Given the description of an element on the screen output the (x, y) to click on. 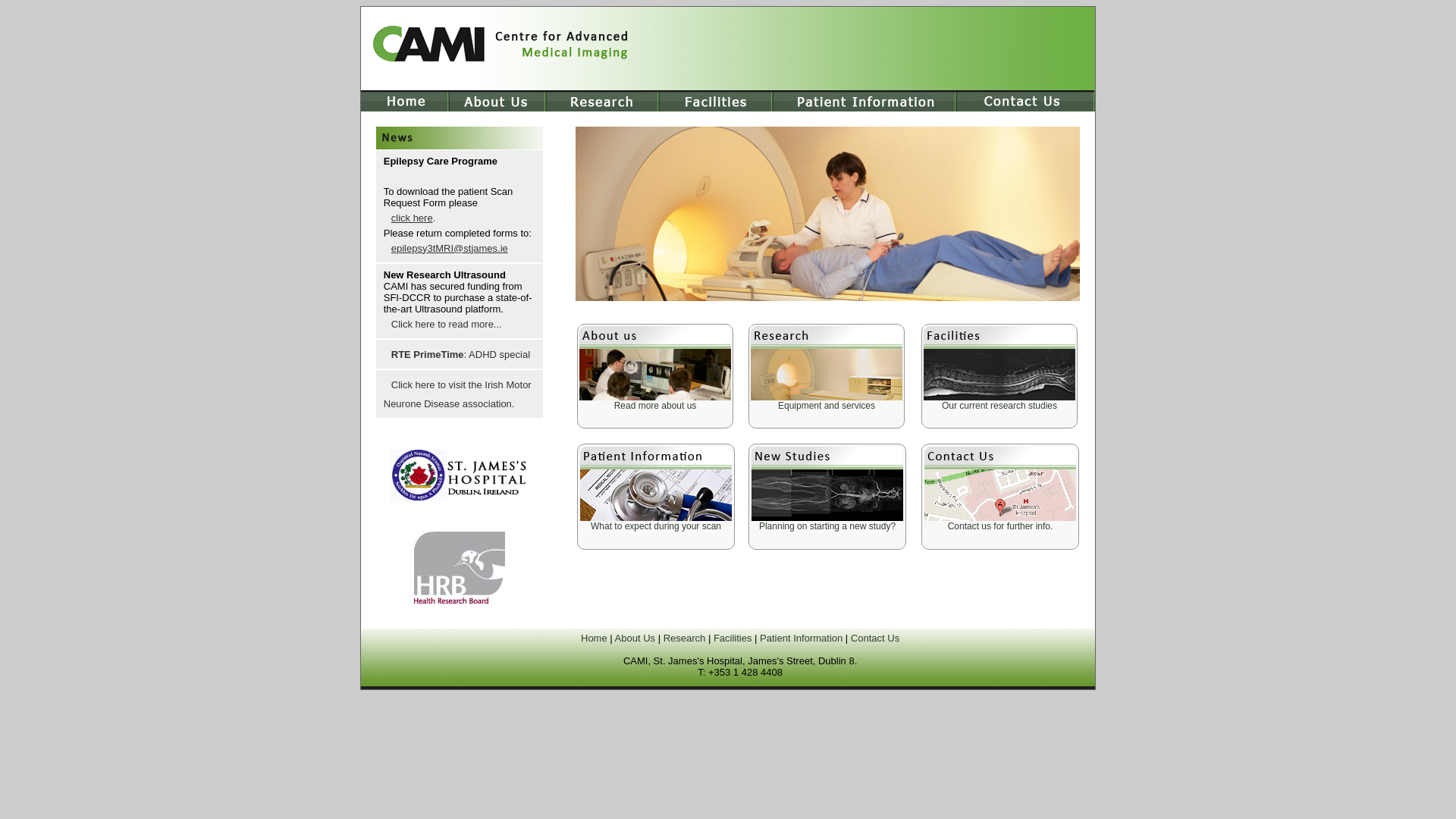
click here. Element type: text (459, 216)
Equipment and services Element type: text (826, 405)
RTE PrimeTime: ADHD special Element type: text (459, 353)
epilepsy3tMRI@stjames.ie Element type: text (459, 247)
Planning on starting a new study? Element type: text (827, 525)
Patient Information Element type: text (800, 637)
About Us Element type: text (635, 637)
Research Element type: text (684, 637)
Our current research studies Element type: text (999, 405)
Contact us for further info. Element type: text (1000, 525)
Click here to read more... Element type: text (459, 322)
Facilities Element type: text (732, 637)
Contact Us Element type: text (874, 637)
Home Element type: text (593, 637)
Read more about us Element type: text (655, 405)
What to expect during your scan Element type: text (655, 525)
